Given the description of an element on the screen output the (x, y) to click on. 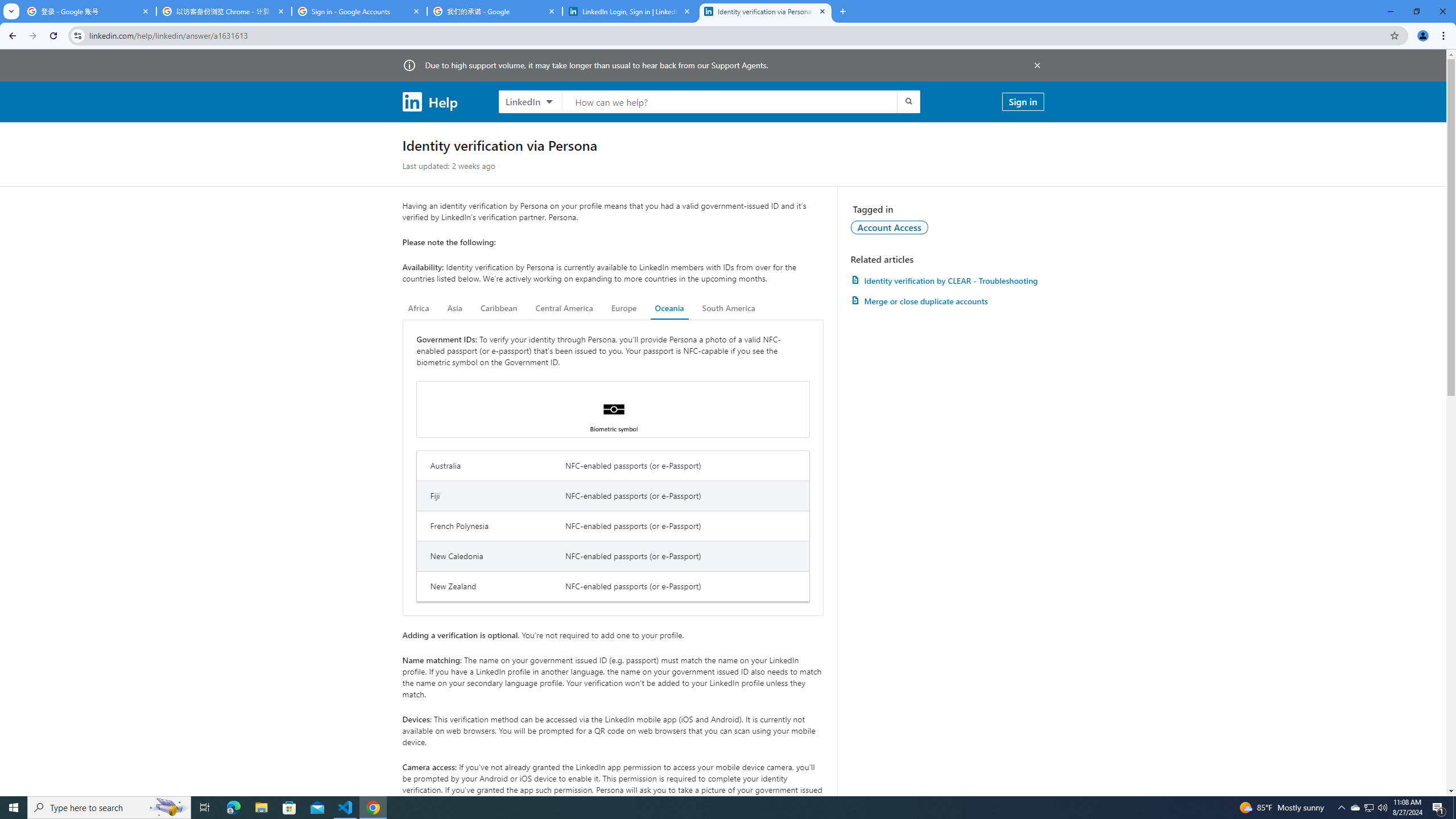
Central America (563, 308)
AutomationID: article-link-a1337200 (946, 300)
